Given the description of an element on the screen output the (x, y) to click on. 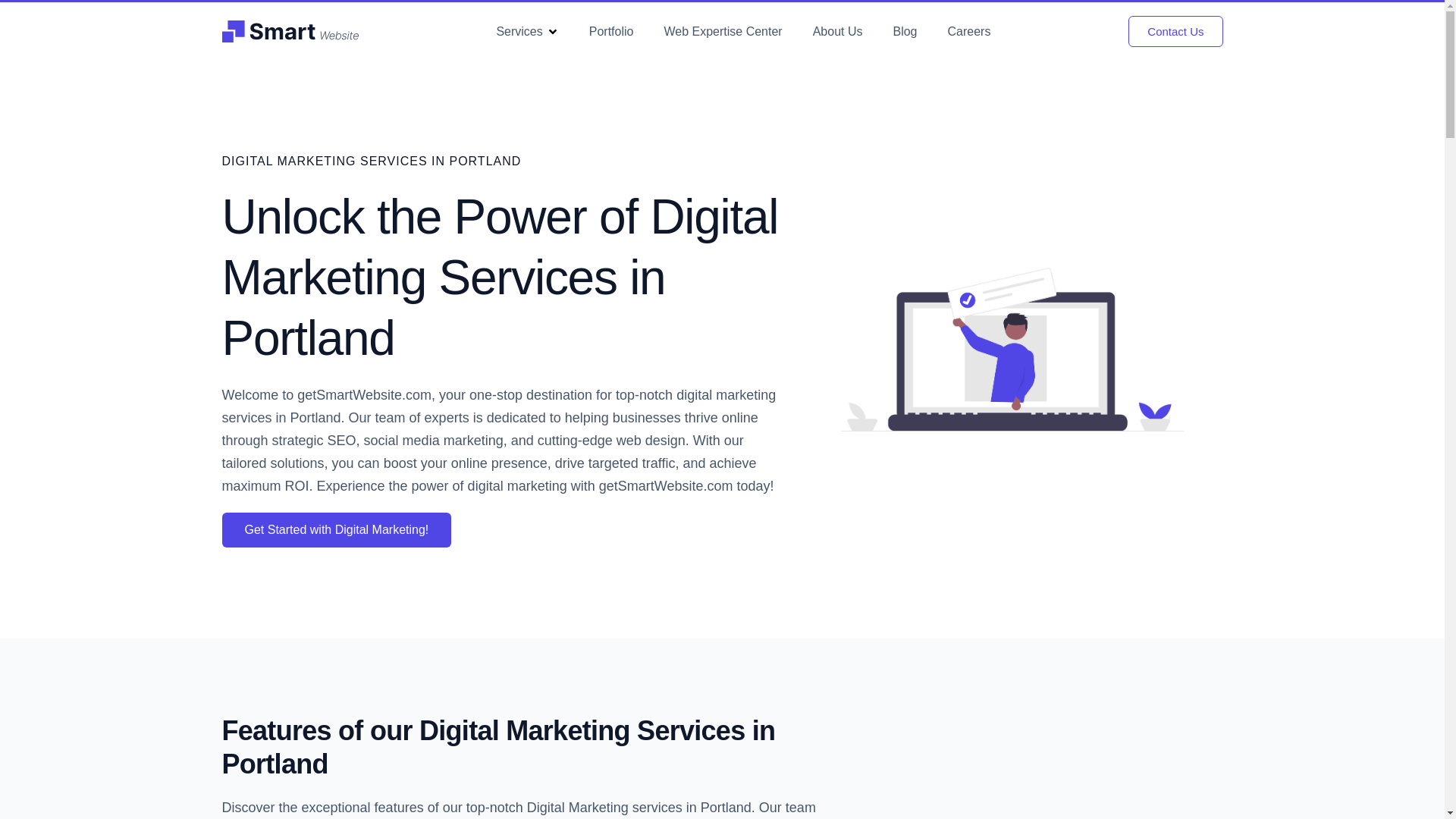
Contact Us (1175, 30)
About Us (837, 30)
Portfolio (611, 30)
Get Started with Digital Marketing! (336, 529)
Services (518, 30)
Blog (904, 30)
Web Expertise Center (722, 30)
Careers (969, 30)
